Given the description of an element on the screen output the (x, y) to click on. 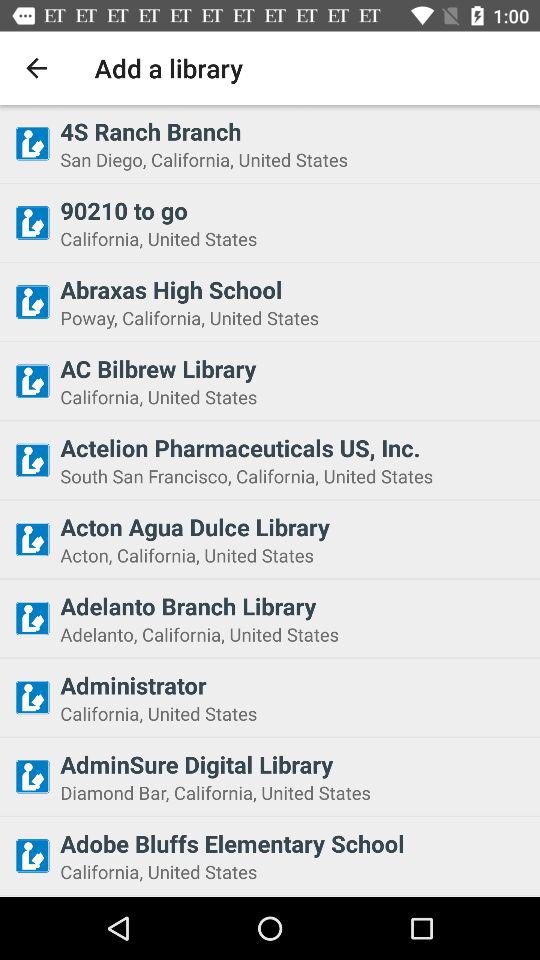
choose icon below the california, united states (294, 447)
